Given the description of an element on the screen output the (x, y) to click on. 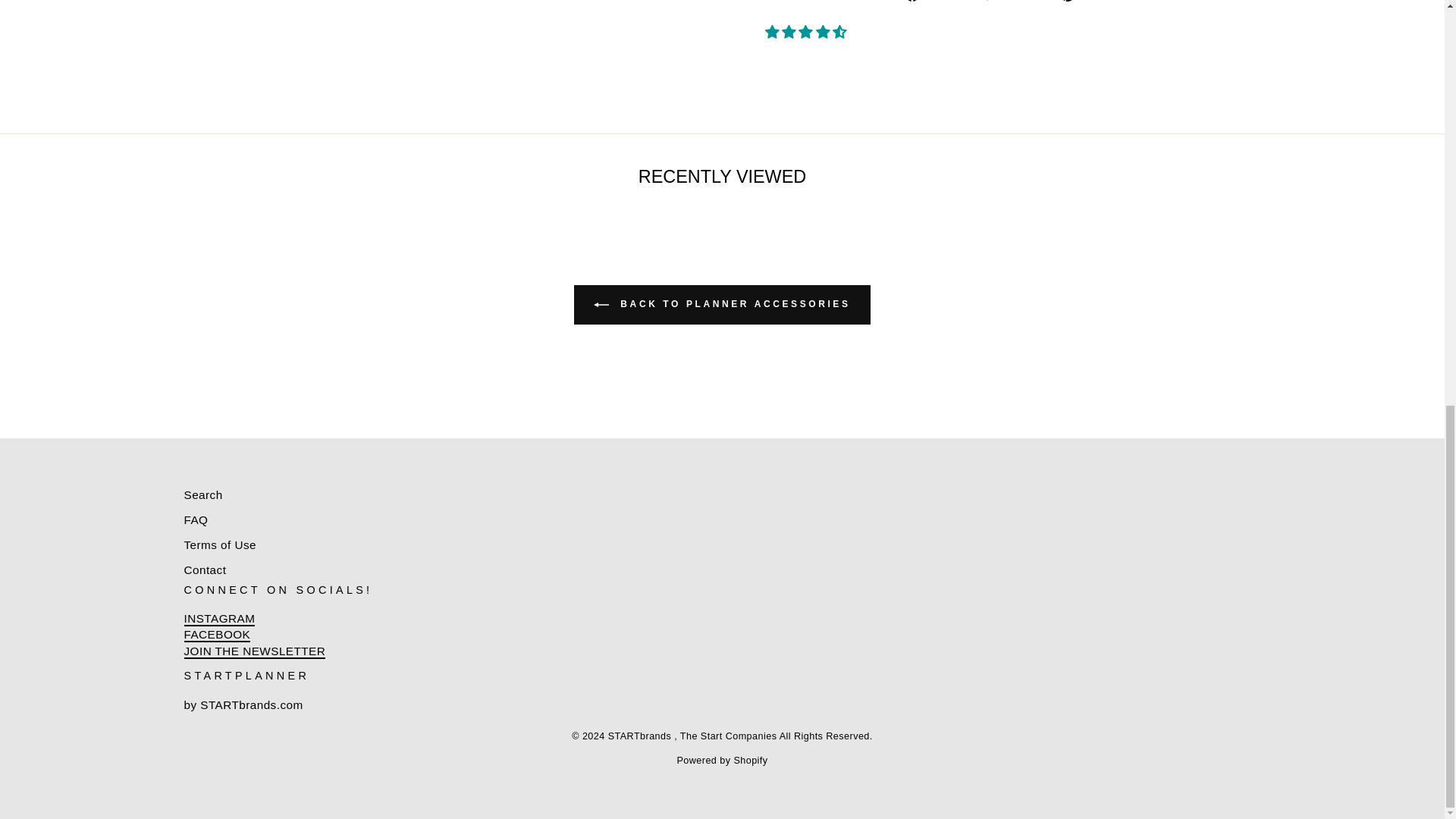
Pin on Pinterest (1090, 2)
Tweet on Twitter (1014, 2)
Share on Facebook (937, 2)
ICON-LEFT-ARROW (601, 304)
